Given the description of an element on the screen output the (x, y) to click on. 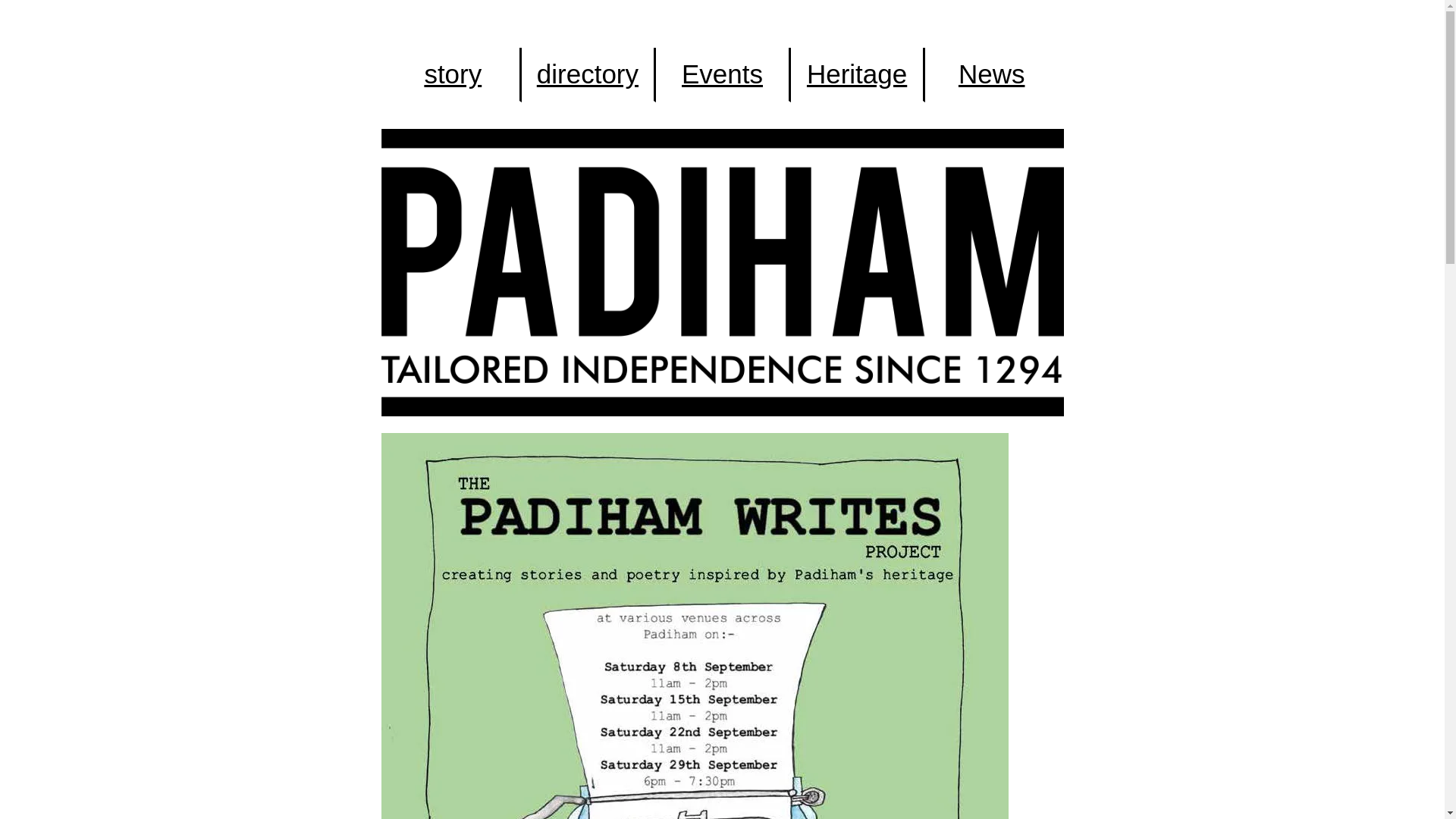
Heritage (856, 73)
News (991, 73)
Events (722, 73)
story (453, 73)
directory (587, 73)
